Given the description of an element on the screen output the (x, y) to click on. 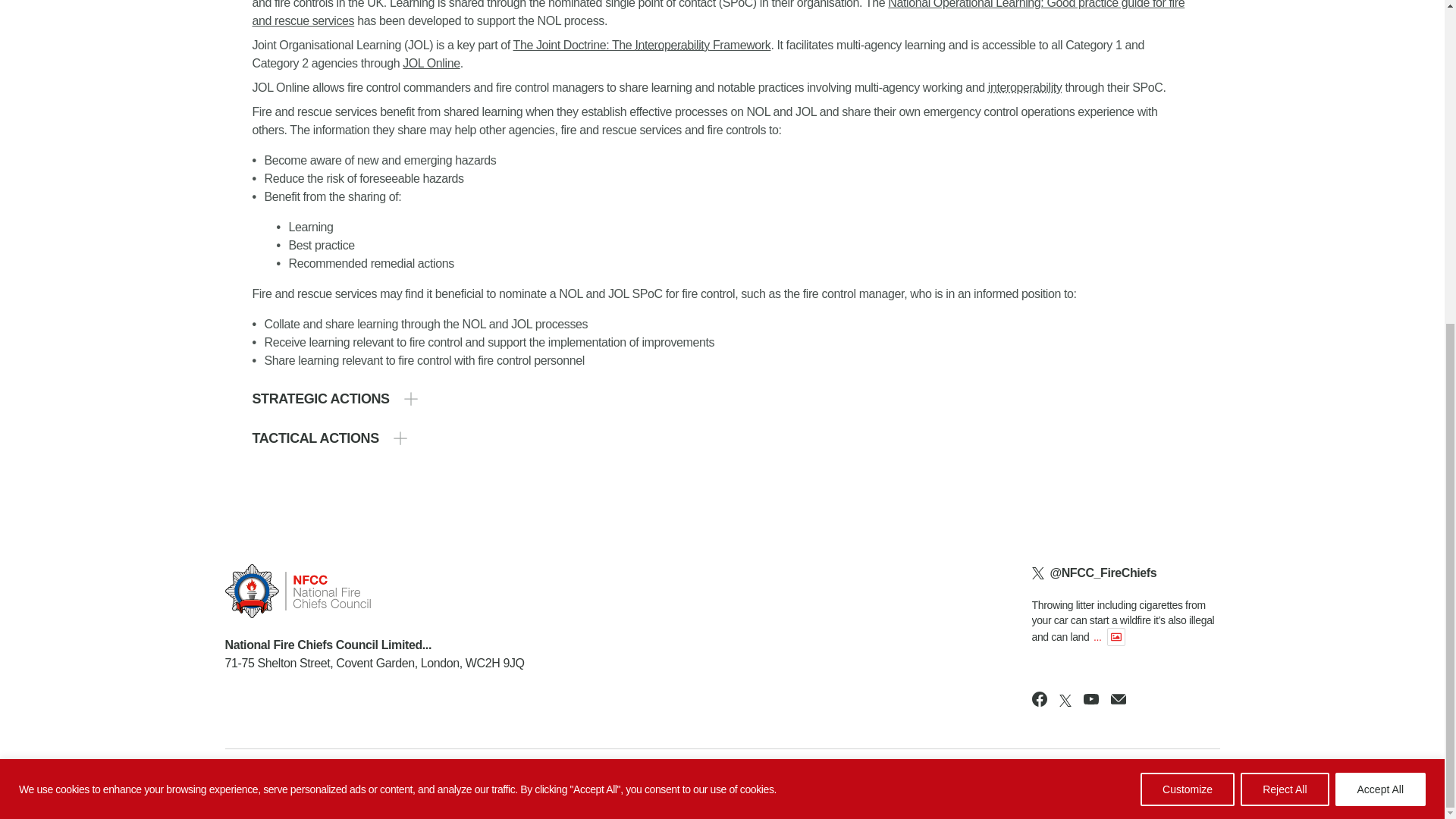
Accept All (1380, 259)
Reject All (1283, 259)
NFCC Twitter (1065, 700)
NFCC Youtube (1091, 698)
Clicking NFCC logo sends you to the home page (374, 591)
NFCC Facebook (1038, 698)
NFCC Email (1117, 698)
Customize (1187, 259)
